Given the description of an element on the screen output the (x, y) to click on. 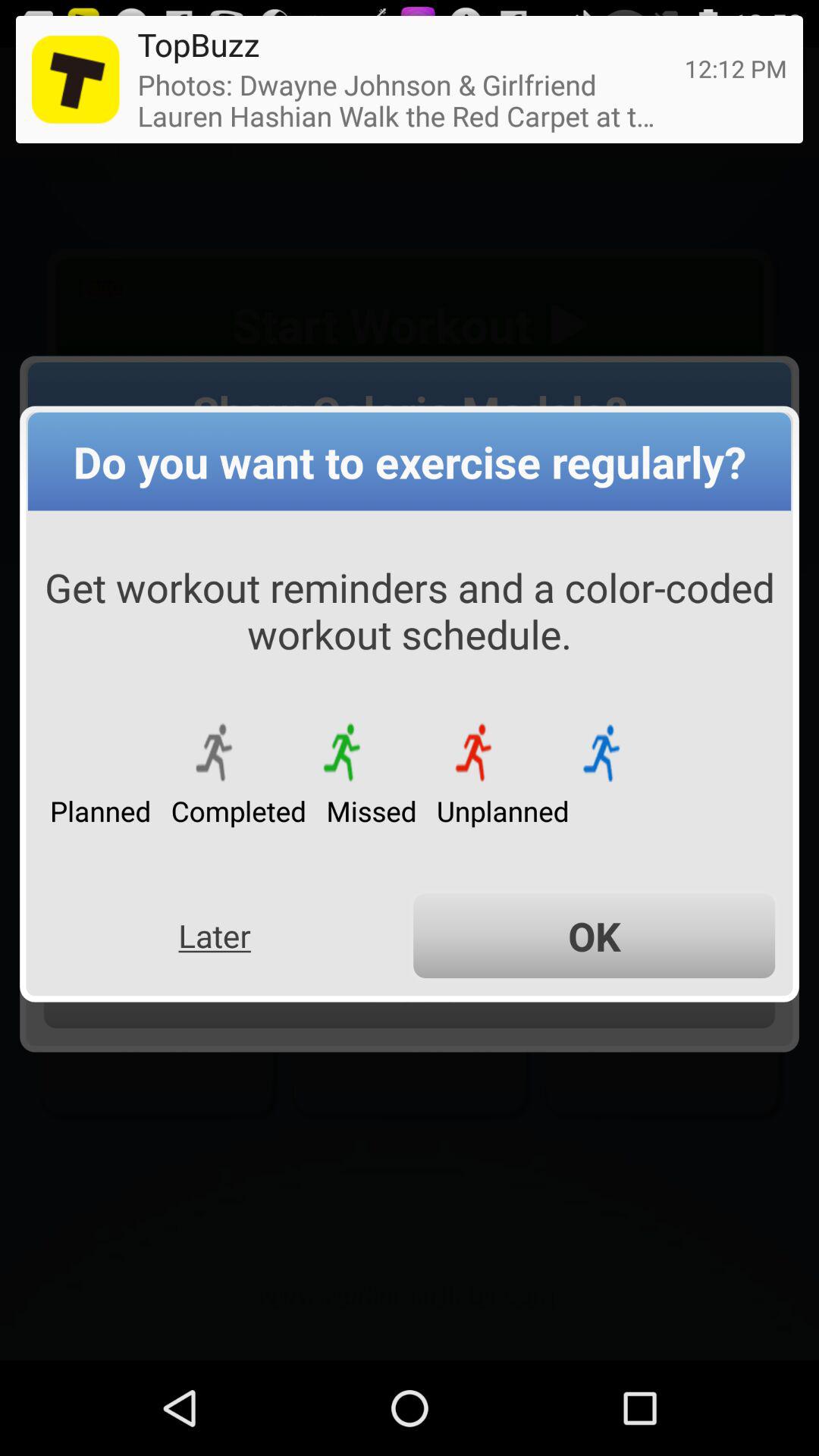
click button next to the ok button (214, 935)
